Given the description of an element on the screen output the (x, y) to click on. 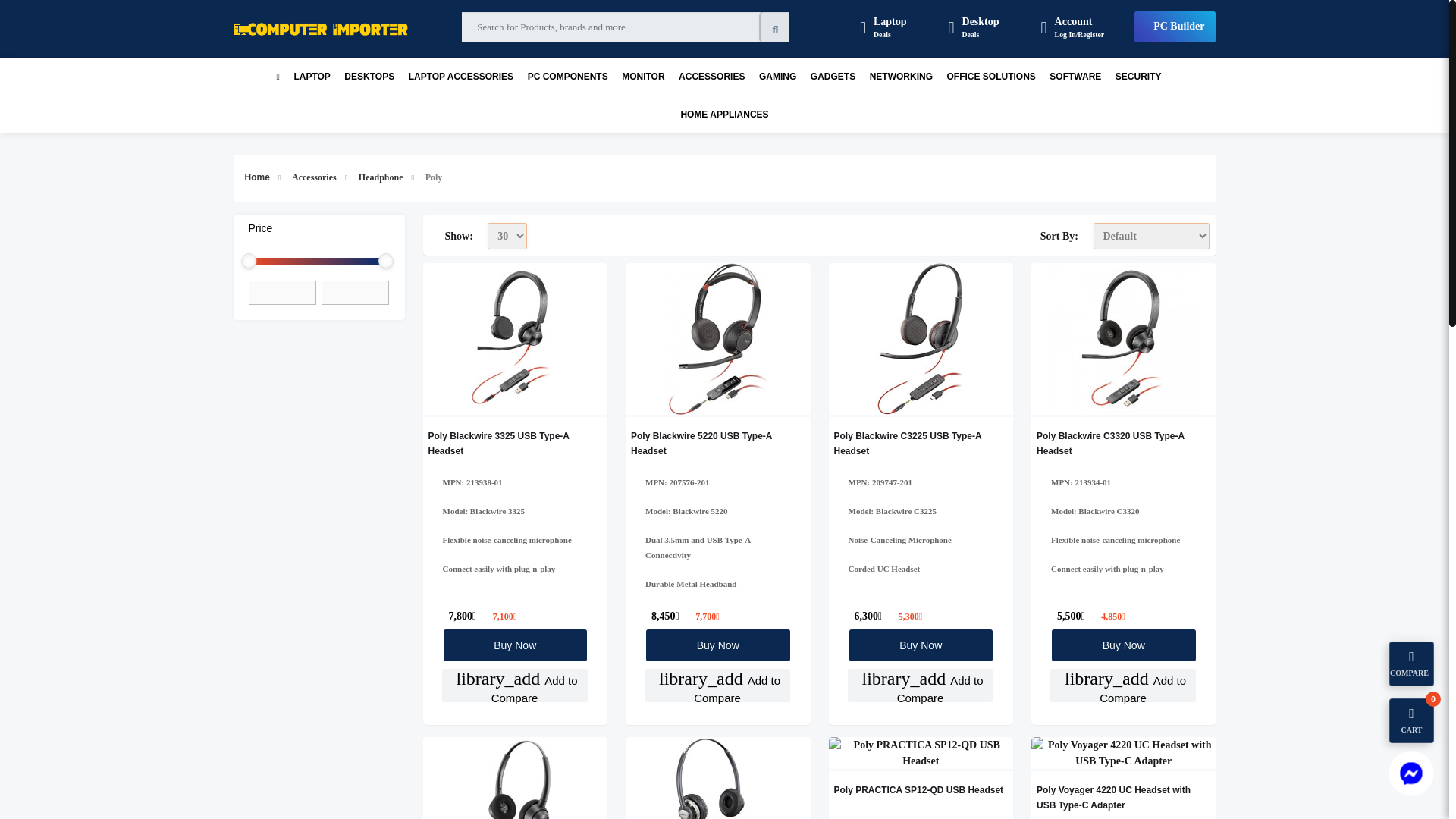
LAPTOP (312, 76)
DESKTOPS (973, 26)
PC Builder (883, 26)
